Given the description of an element on the screen output the (x, y) to click on. 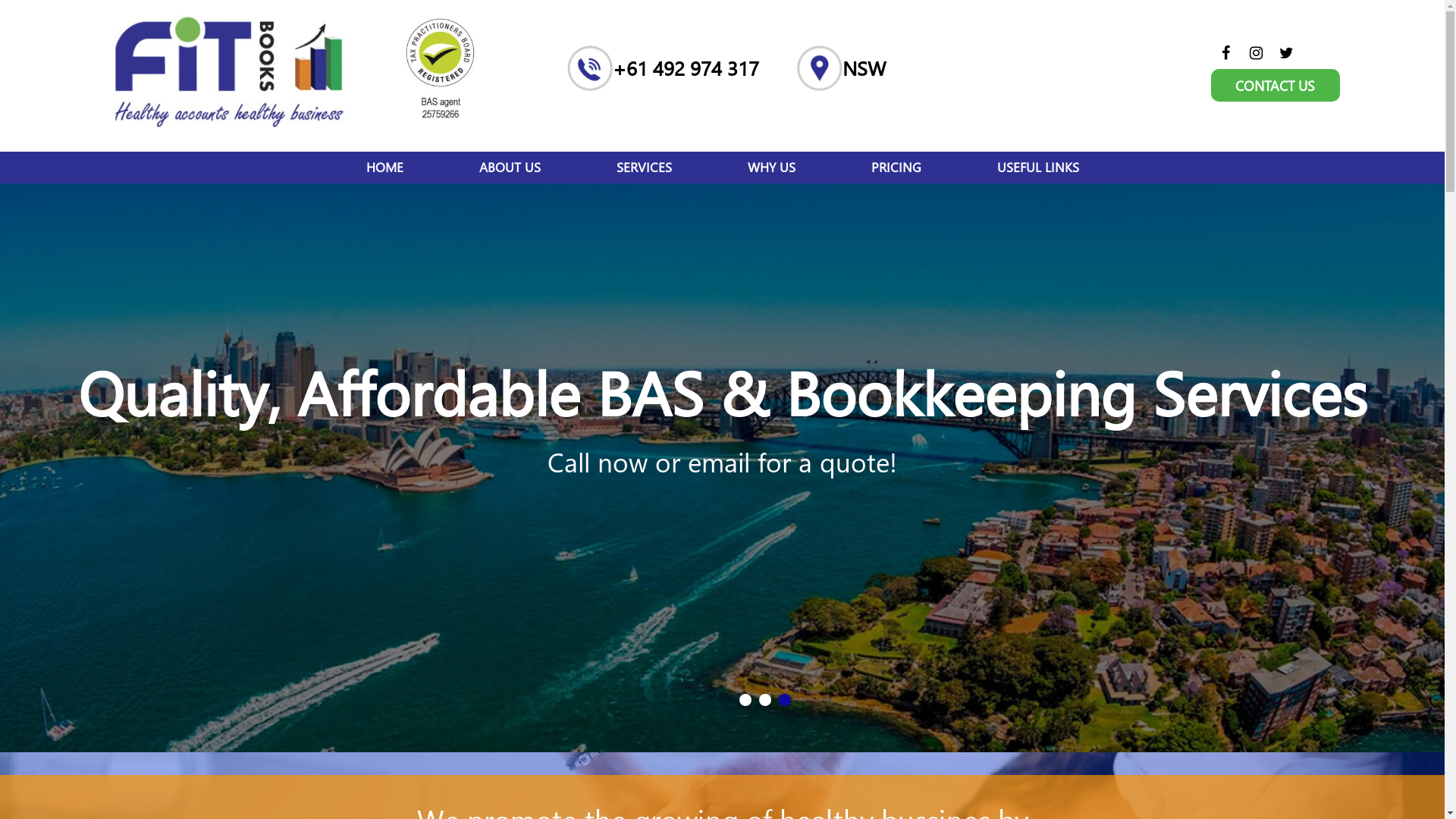
Logo Fitbooks Element type: hover (229, 71)
WHY US Element type: text (771, 167)
ABOUT US Element type: text (509, 167)
CONTACT US Element type: text (1275, 85)
PRICING Element type: text (895, 167)
HOME Element type: text (383, 167)
USEFUL LINKS Element type: text (1037, 167)
SERVICES Element type: text (643, 167)
